Given the description of an element on the screen output the (x, y) to click on. 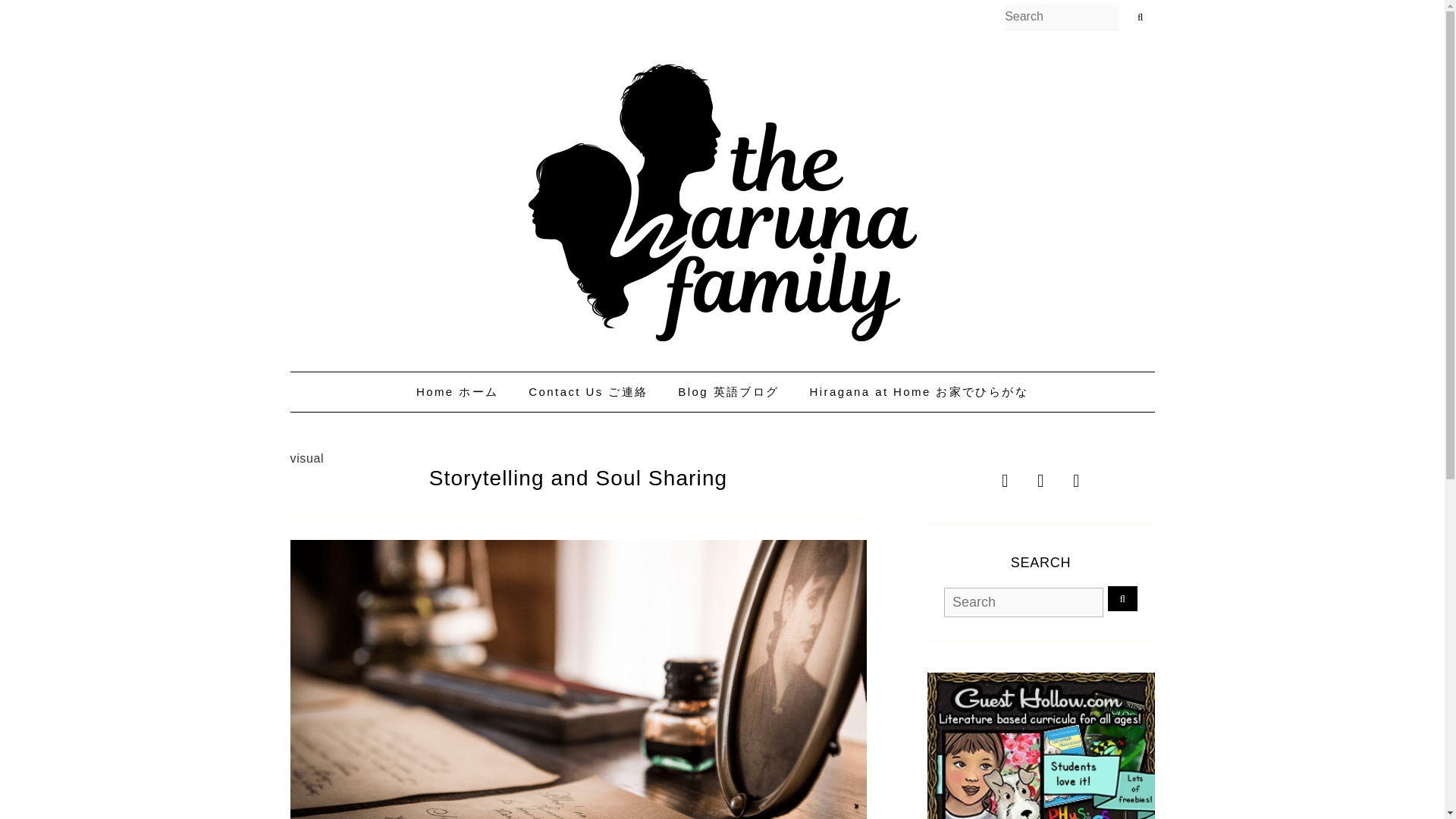
Storytelling and Soul Sharing (578, 477)
Facebook (1004, 474)
Twitter (1039, 474)
Storytelling and Soul Sharing (578, 477)
The Haruna Family (721, 202)
Pinterest (1075, 474)
